Given the description of an element on the screen output the (x, y) to click on. 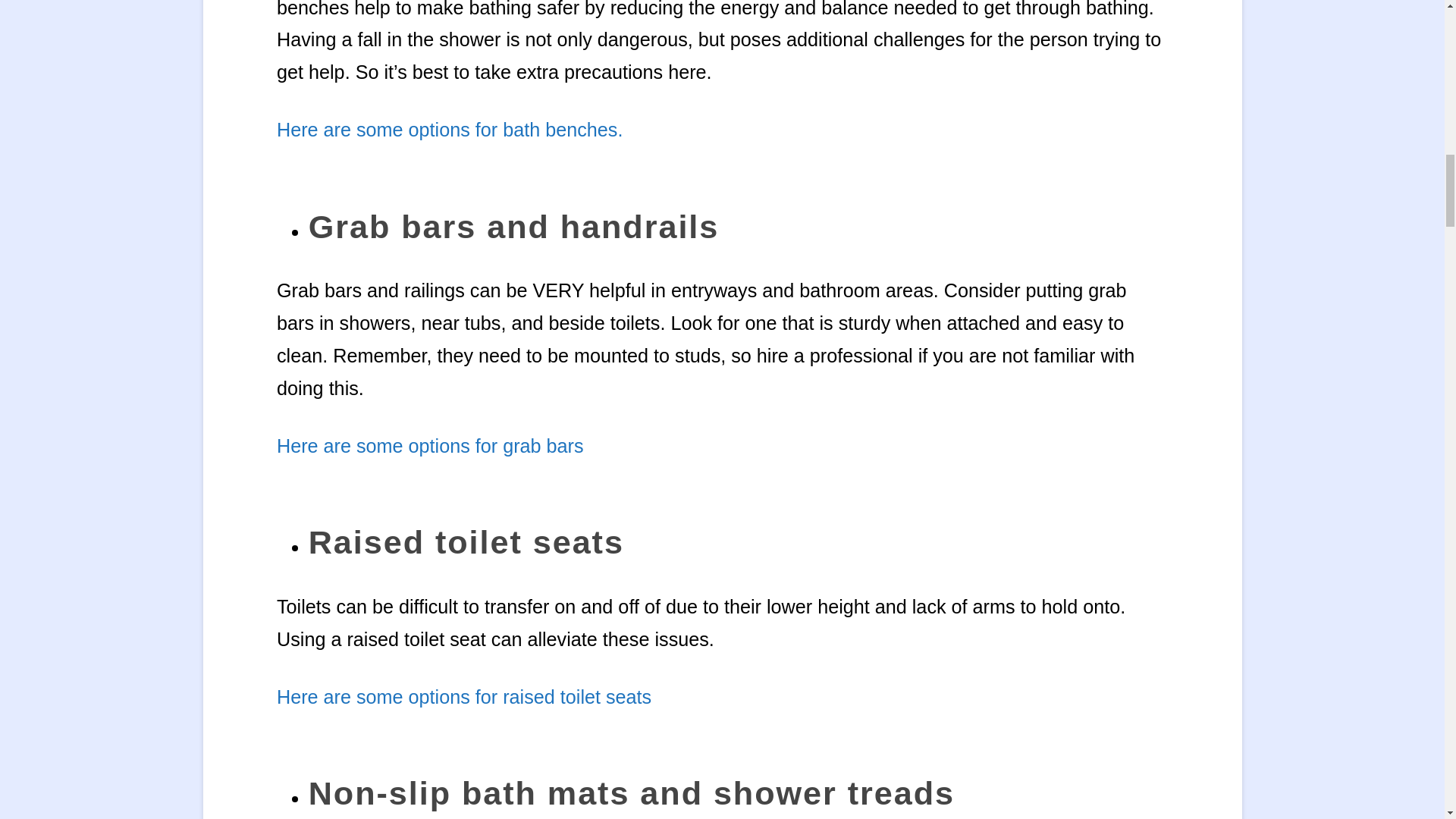
Here are some options for raised toilet seats (463, 695)
Here are some options for bath benches. (449, 129)
Here are some options for grab bars (429, 445)
